Given the description of an element on the screen output the (x, y) to click on. 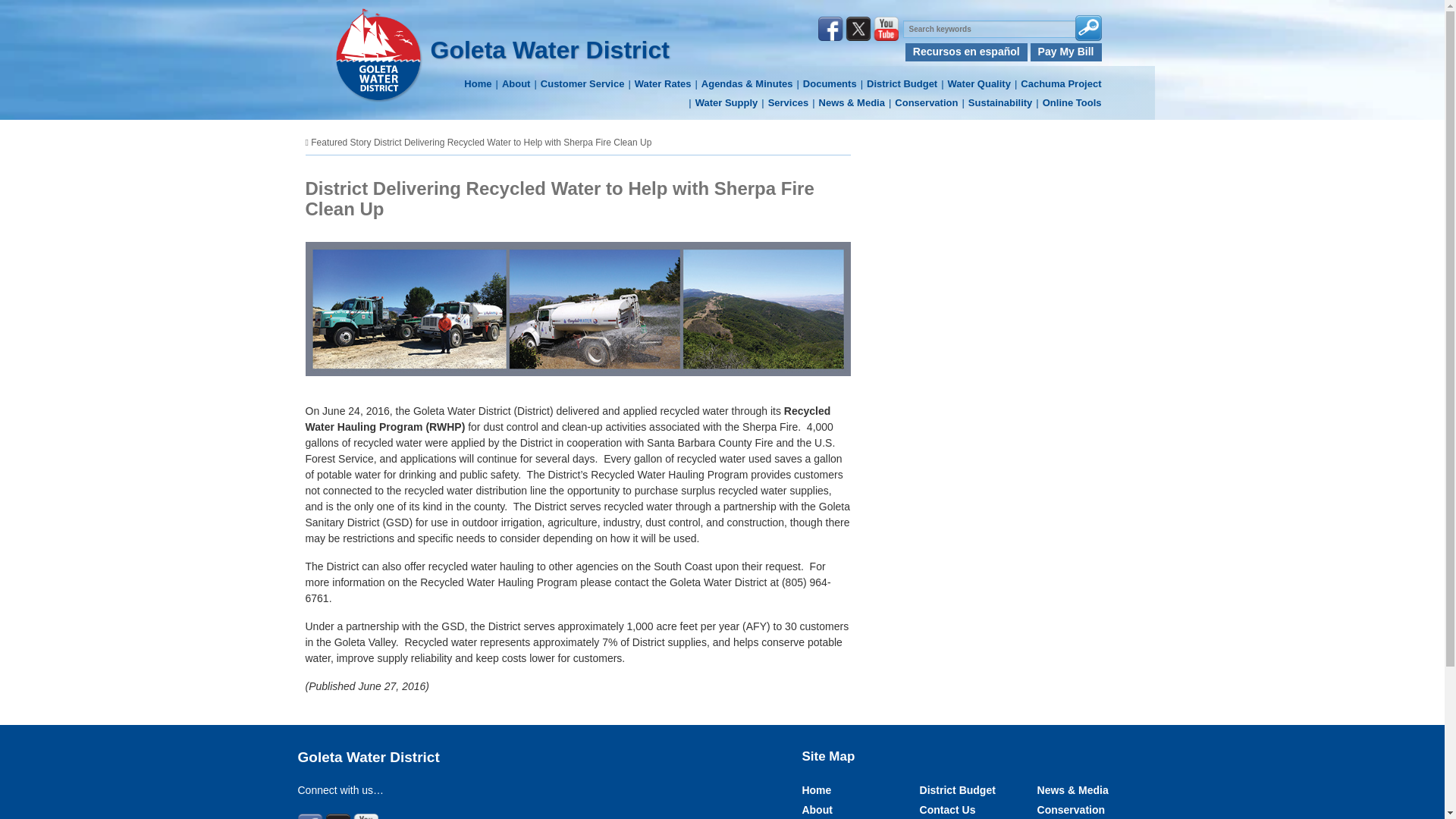
Customer Service (576, 84)
About (510, 84)
Goleta Water District (549, 49)
Documents (824, 84)
Home (478, 84)
Water Quality (973, 84)
District Budget (897, 84)
Water Rates (657, 84)
Pay My Bill (1066, 52)
